Given the description of an element on the screen output the (x, y) to click on. 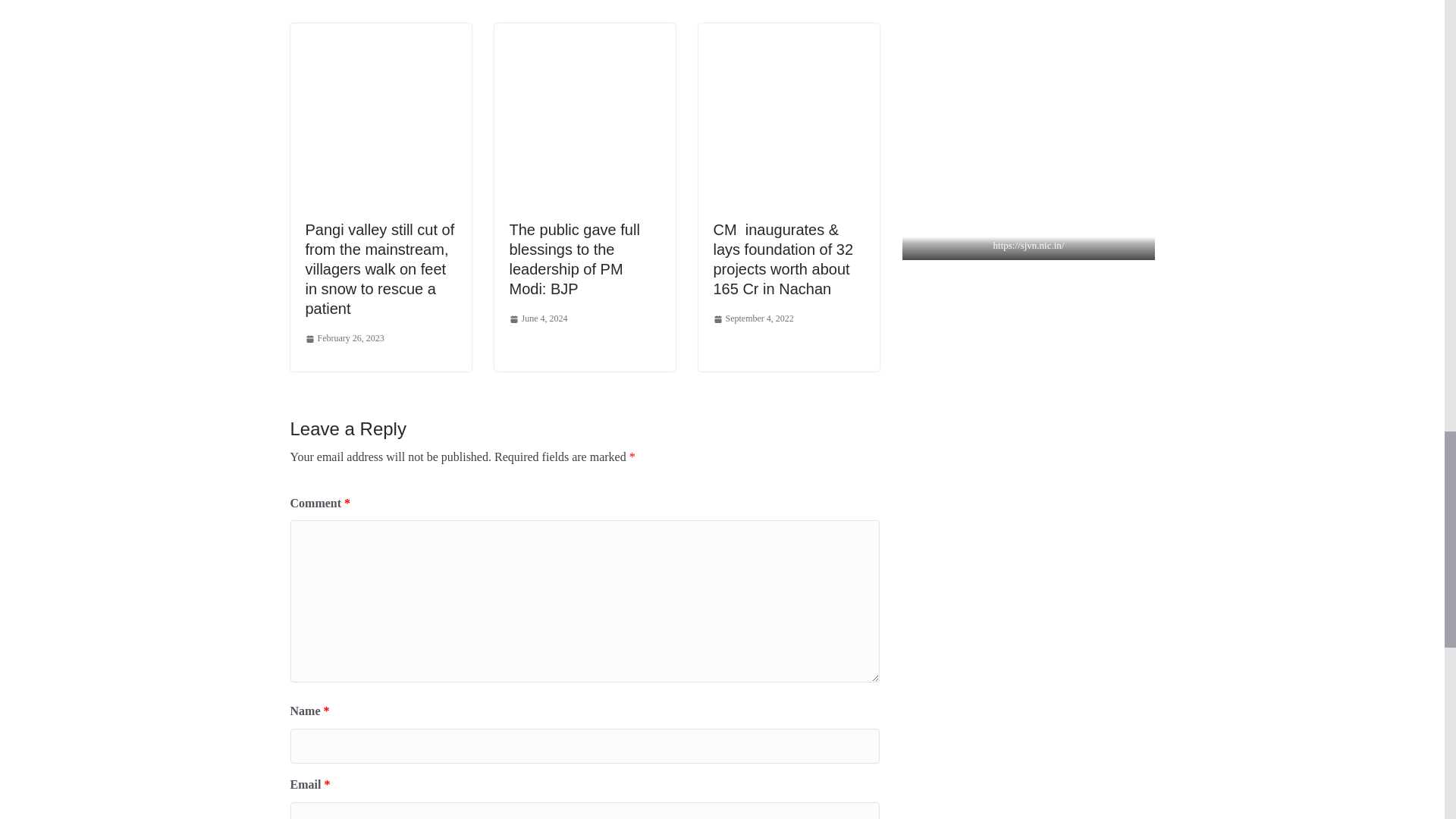
February 26, 2023 (344, 338)
June 4, 2024 (538, 319)
September 4, 2022 (753, 319)
